Given the description of an element on the screen output the (x, y) to click on. 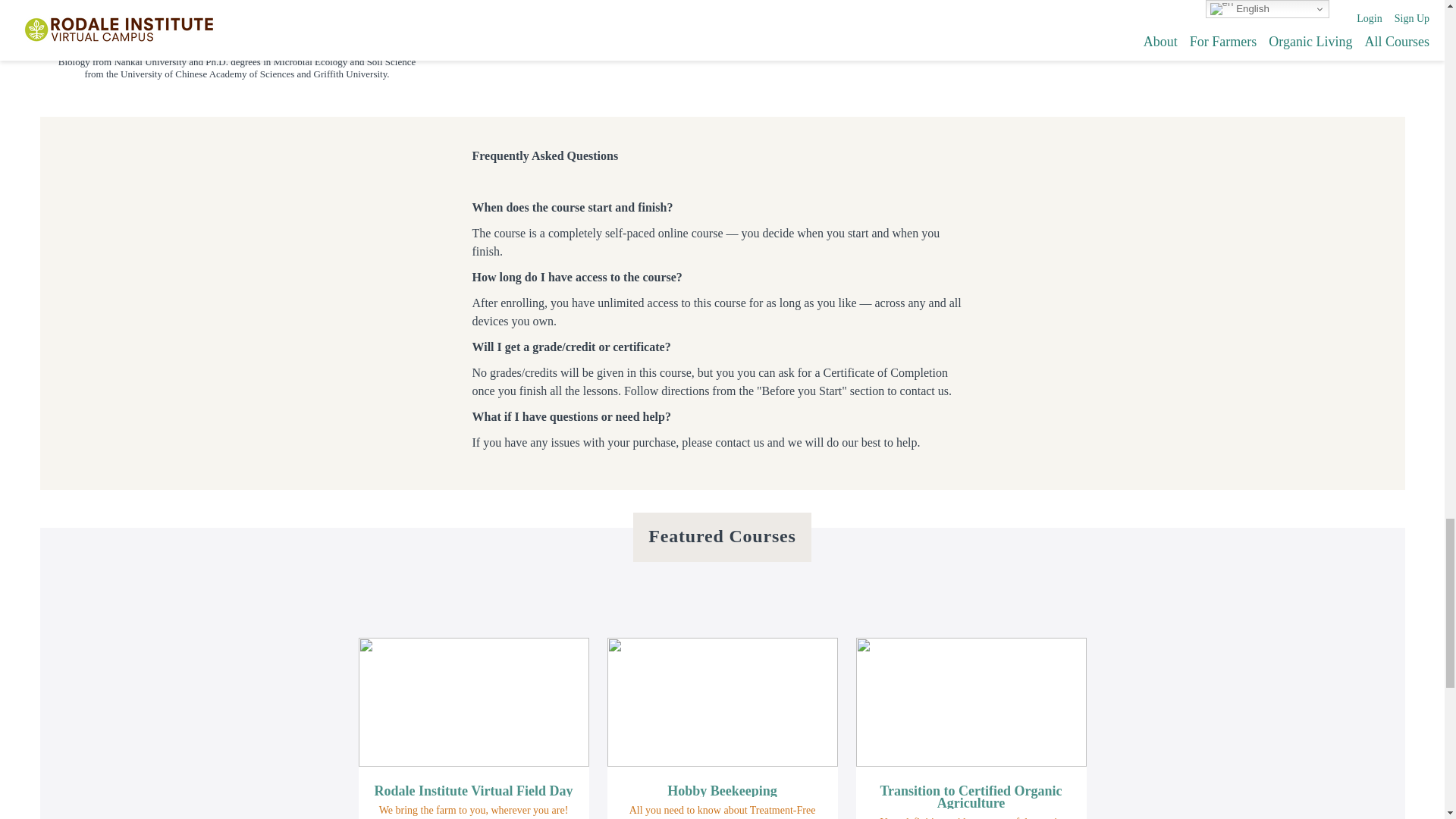
Rodale Institute Virtual Field Day (472, 790)
All you need to know about Treatment-Free Beekeeping! (721, 811)
Hobby Beekeeping (721, 790)
We bring the farm to you, wherever you are! (472, 810)
